Given the description of an element on the screen output the (x, y) to click on. 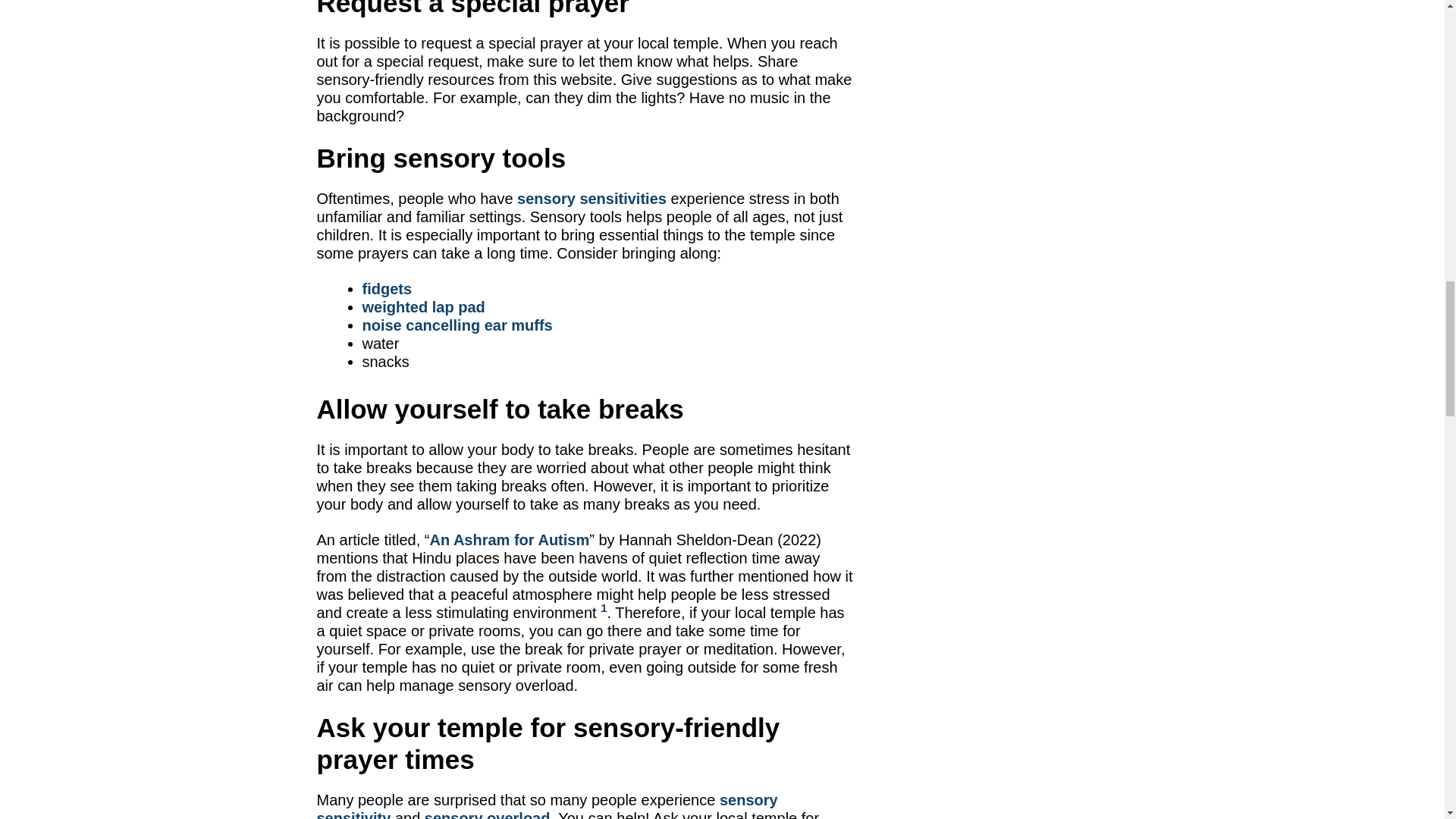
sensory sensitivities (591, 198)
sensory sensitivity (547, 805)
An Ashram for Autism (509, 539)
fidgets (387, 288)
weighted lap pad (423, 306)
noise cancelling ear muffs (457, 324)
